Given the description of an element on the screen output the (x, y) to click on. 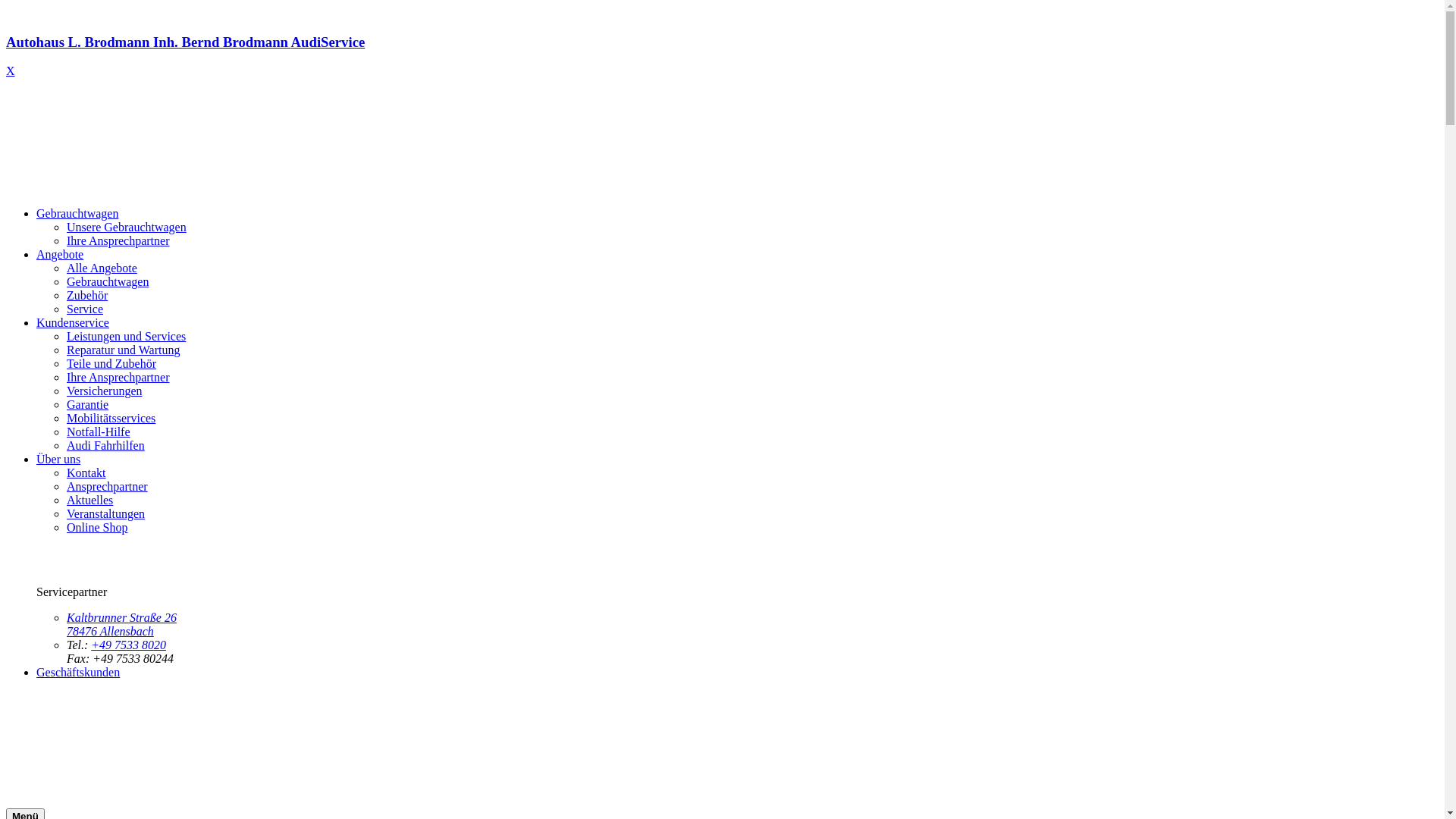
Veranstaltungen Element type: text (105, 513)
Leistungen und Services Element type: text (125, 335)
Autohaus L. Brodmann Inh. Bernd Brodmann AudiService Element type: text (722, 56)
Angebote Element type: text (59, 253)
Kundenservice Element type: text (72, 322)
Notfall-Hilfe Element type: text (98, 431)
Ansprechpartner Element type: text (106, 486)
Alle Angebote Element type: text (101, 267)
Gebrauchtwagen Element type: text (77, 213)
Online Shop Element type: text (96, 526)
Service Element type: text (84, 308)
Audi Fahrhilfen Element type: text (105, 445)
Unsere Gebrauchtwagen Element type: text (126, 226)
Versicherungen Element type: text (104, 390)
Gebrauchtwagen Element type: text (107, 281)
Kontakt Element type: text (86, 472)
Garantie Element type: text (87, 404)
Reparatur und Wartung Element type: text (122, 349)
Aktuelles Element type: text (89, 499)
+49 7533 8020 Element type: text (128, 644)
X Element type: text (10, 70)
Ihre Ansprechpartner Element type: text (117, 240)
Ihre Ansprechpartner Element type: text (117, 376)
